Given the description of an element on the screen output the (x, y) to click on. 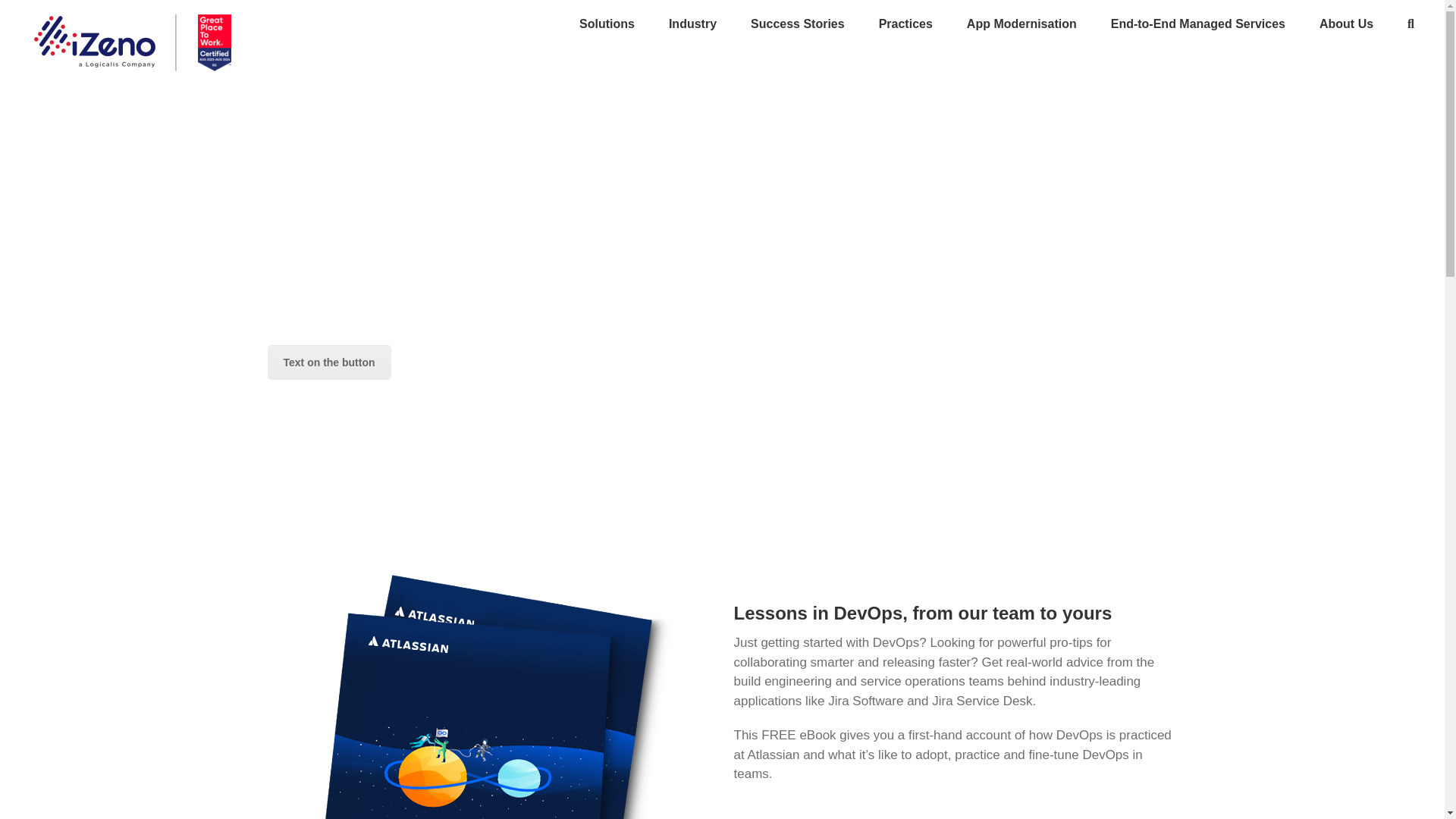
Solutions (606, 22)
Success Stories (797, 22)
Industry (692, 22)
Practices (906, 22)
